Given the description of an element on the screen output the (x, y) to click on. 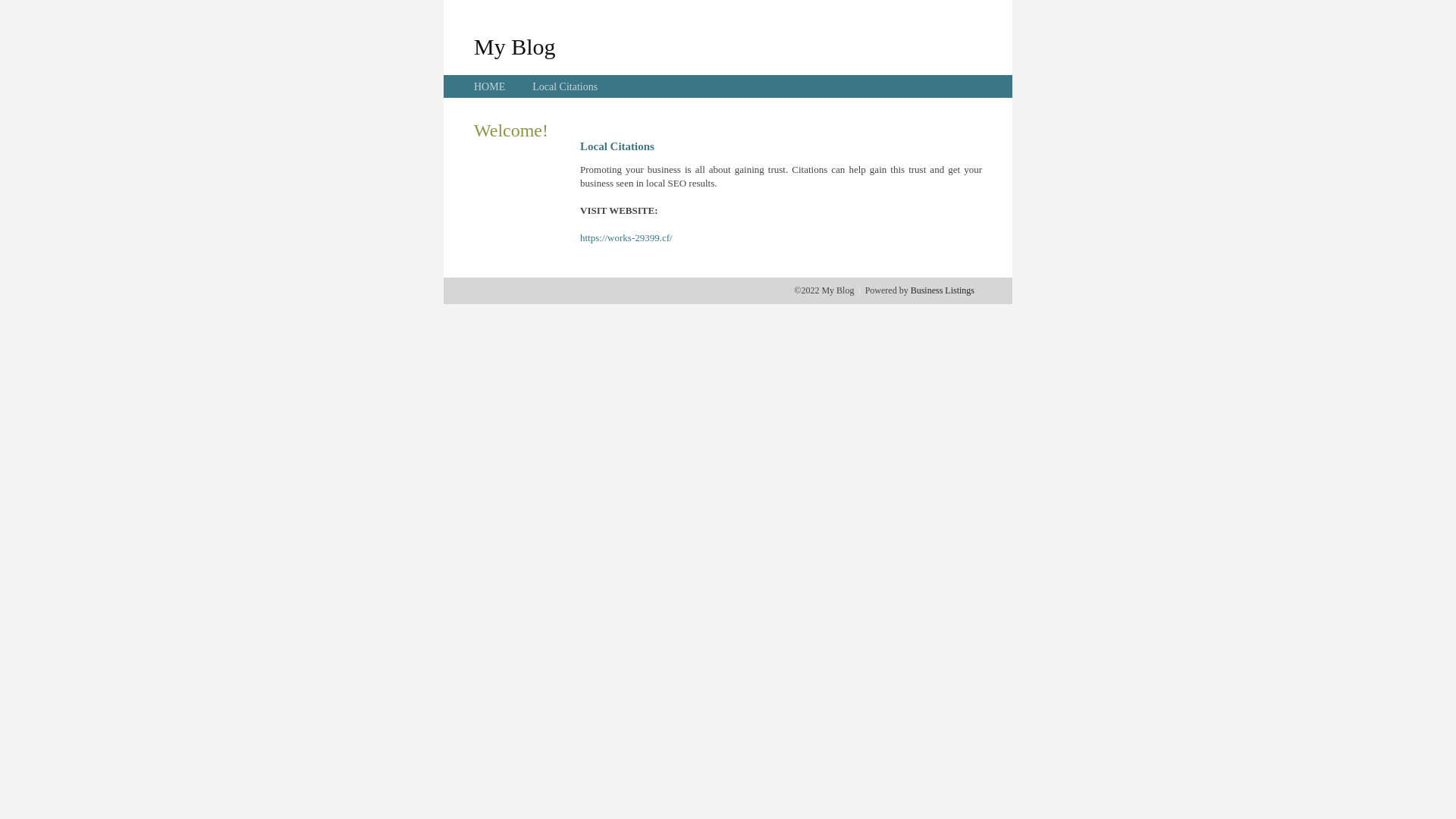
https://works-29399.cf/ Element type: text (626, 237)
Business Listings Element type: text (942, 290)
HOME Element type: text (489, 86)
Local Citations Element type: text (564, 86)
My Blog Element type: text (514, 46)
